Given the description of an element on the screen output the (x, y) to click on. 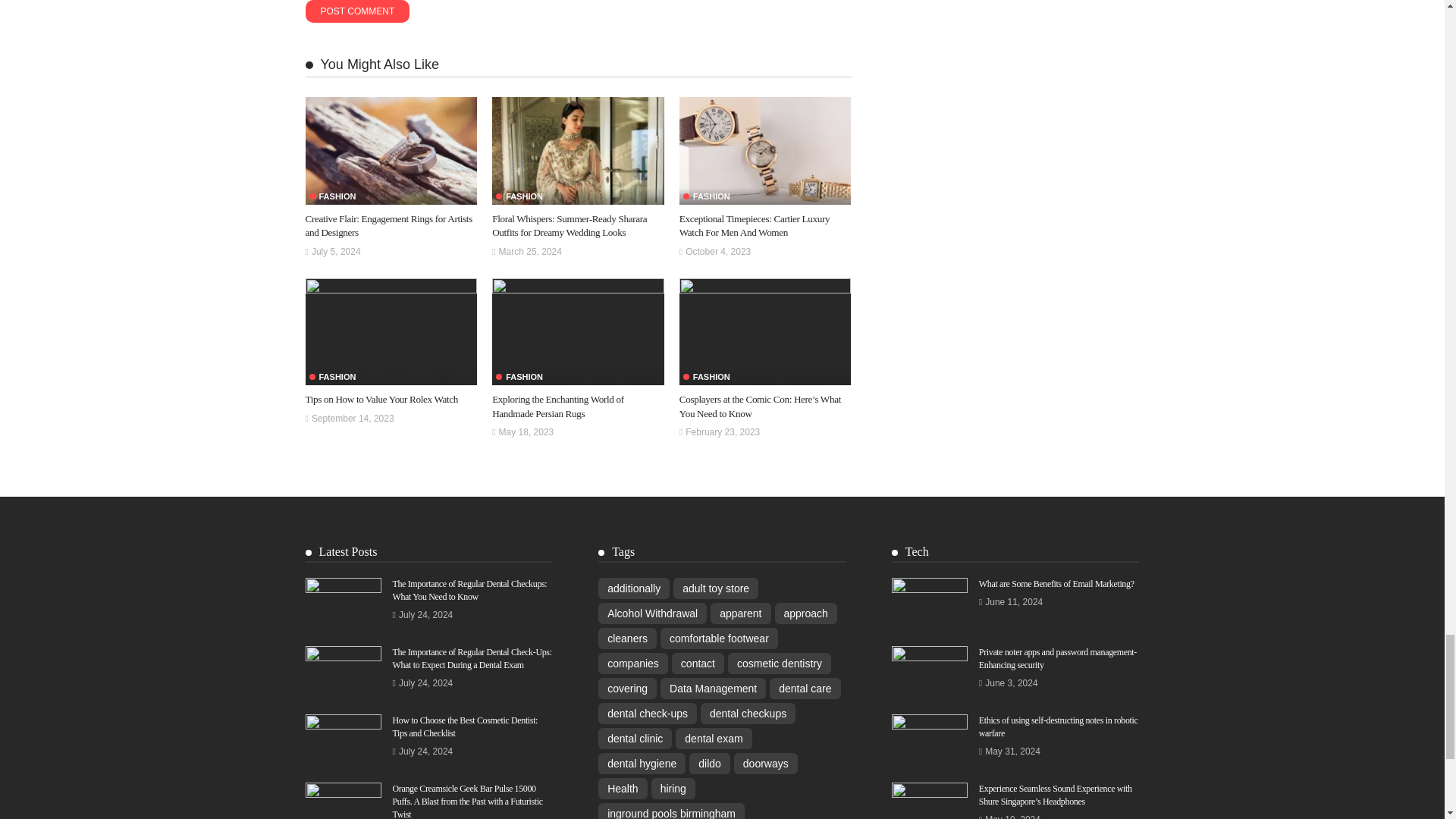
Post Comment (356, 11)
